Given the description of an element on the screen output the (x, y) to click on. 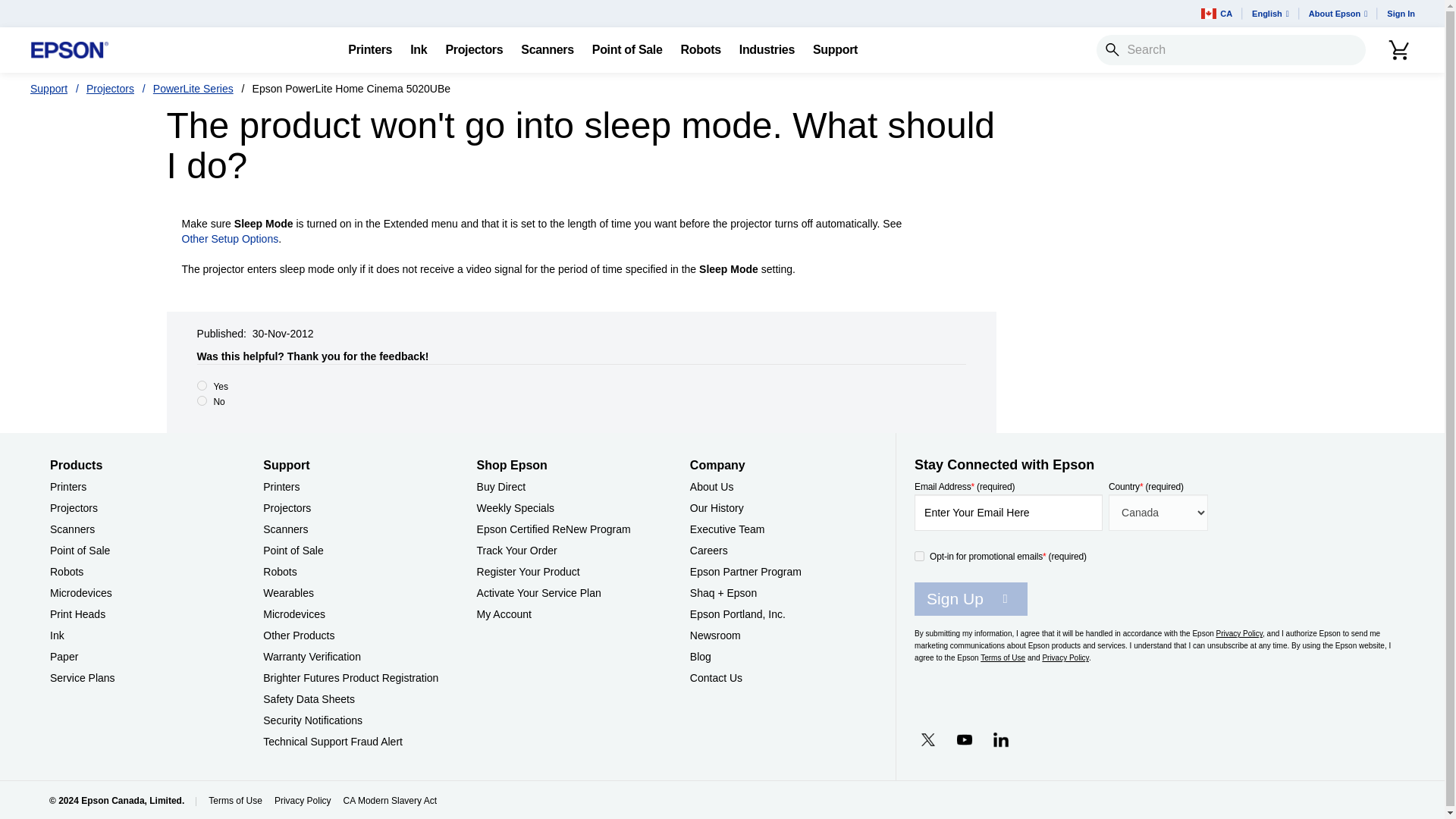
CA (1216, 13)
no (201, 400)
About Epson (1337, 13)
Epson Logo (69, 49)
CA (1216, 13)
English (1270, 13)
English (1270, 13)
yes (201, 385)
on (919, 556)
Sign In (1400, 13)
Sign In (1400, 13)
